Given the description of an element on the screen output the (x, y) to click on. 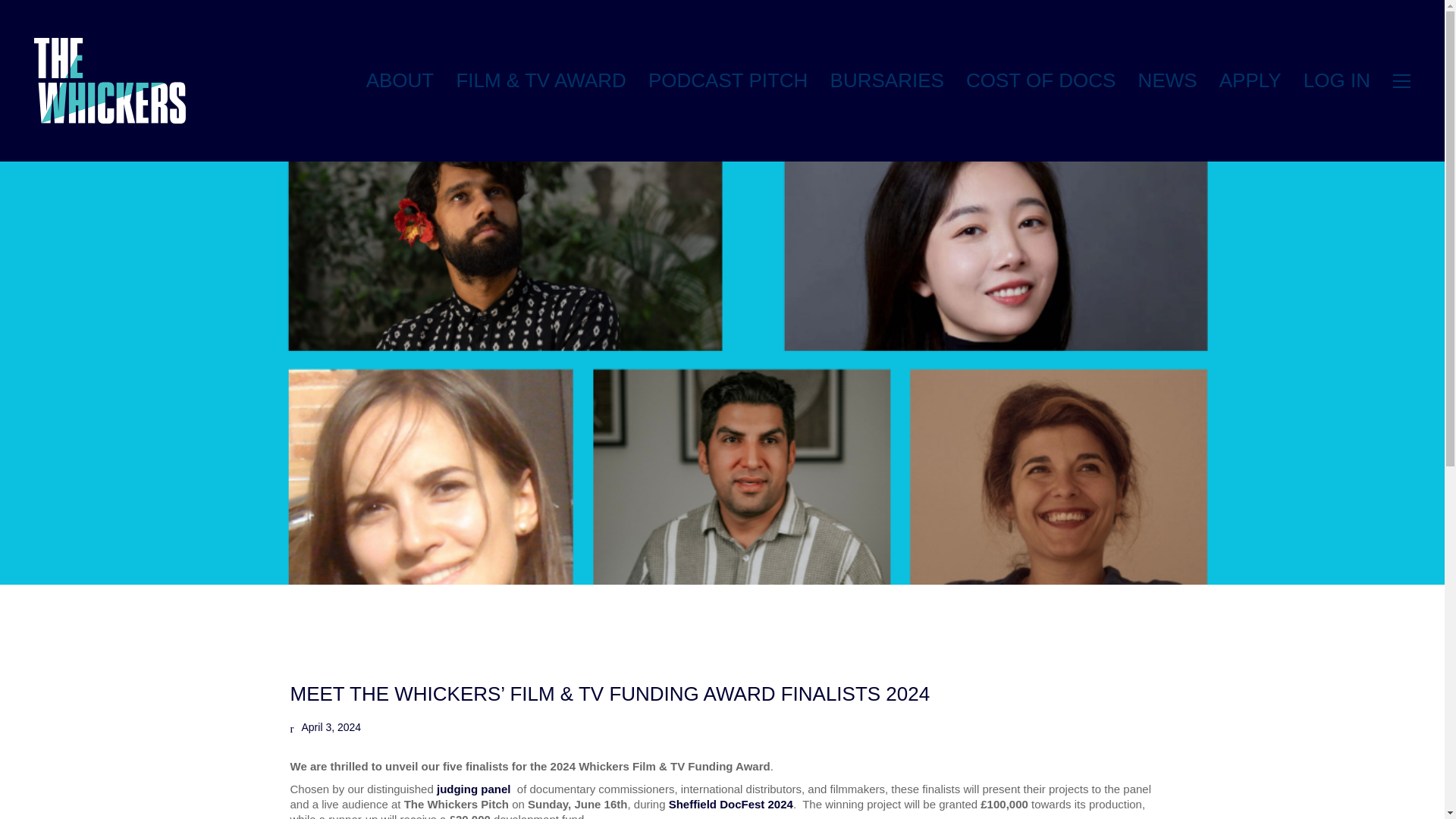
APPLY (1250, 80)
NEWS (1167, 80)
PODCAST PITCH (727, 80)
BURSARIES (886, 80)
COST OF DOCS (1040, 80)
judging panel (473, 788)
ABOUT (399, 80)
LOG IN (1336, 80)
Sheffield DocFest 2024 (730, 803)
